Given the description of an element on the screen output the (x, y) to click on. 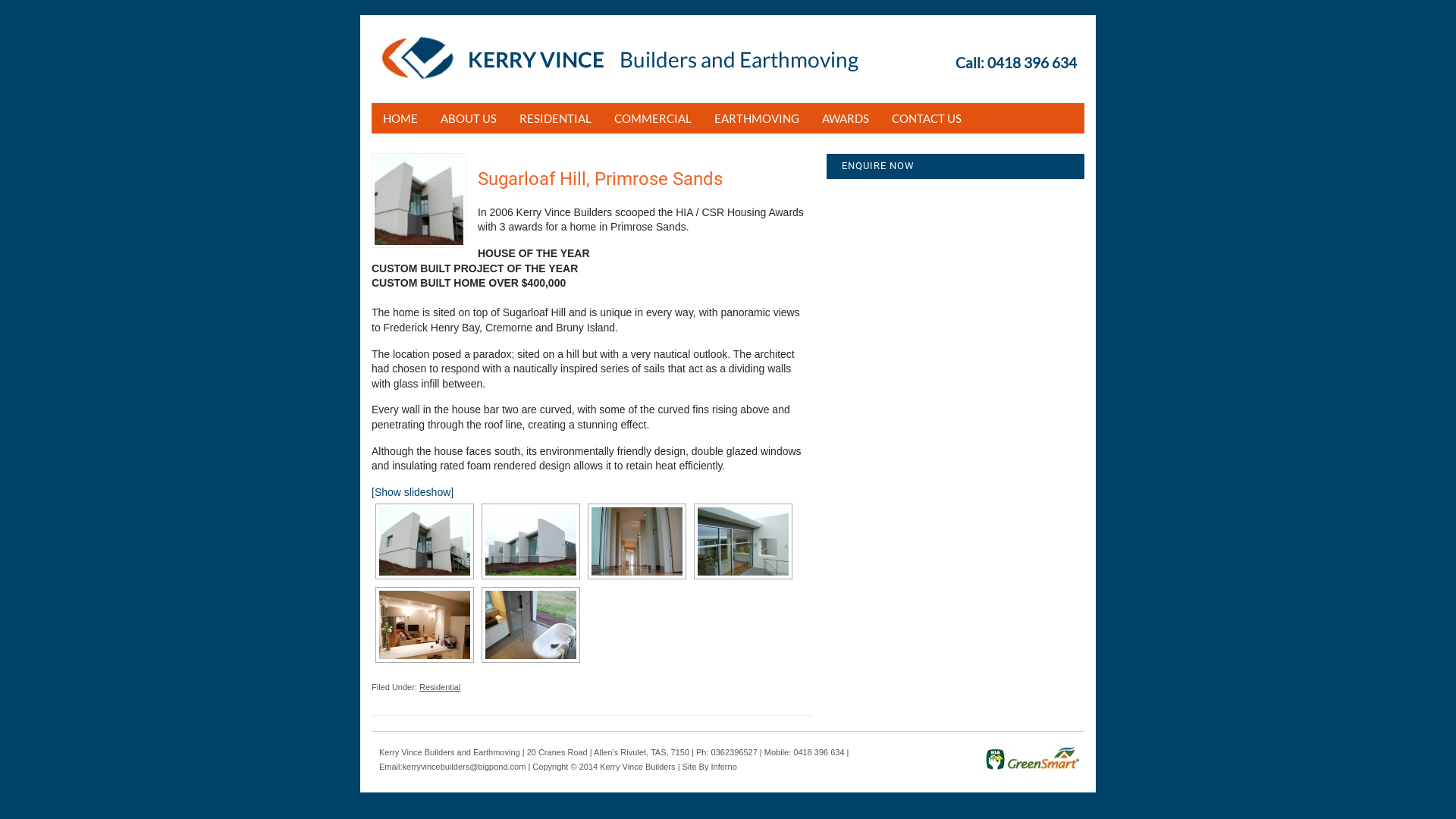
RESIDENTIAL Element type: text (555, 118)
HOME Element type: text (400, 118)
AWARDS Element type: text (845, 118)
EARTHMOVING Element type: text (756, 118)
Primrose Sands - Interior Element type: hover (424, 624)
Inferno Element type: text (724, 766)
ABOUT US Element type: text (468, 118)
CONTACT US Element type: text (926, 118)
kerryvincebuilders@bigpond.com Element type: text (464, 766)
Primrose Sands - Exterior Element type: hover (742, 541)
Primrose Sands - Exterior Element type: hover (530, 541)
[Show slideshow] Element type: text (412, 492)
COMMERCIAL Element type: text (652, 118)
Primrose Sands - Interior Element type: hover (530, 624)
Primrose Sands - Exterior Element type: hover (424, 541)
Primrose Sands - Interior Element type: hover (636, 541)
Residential Element type: text (439, 686)
